Given the description of an element on the screen output the (x, y) to click on. 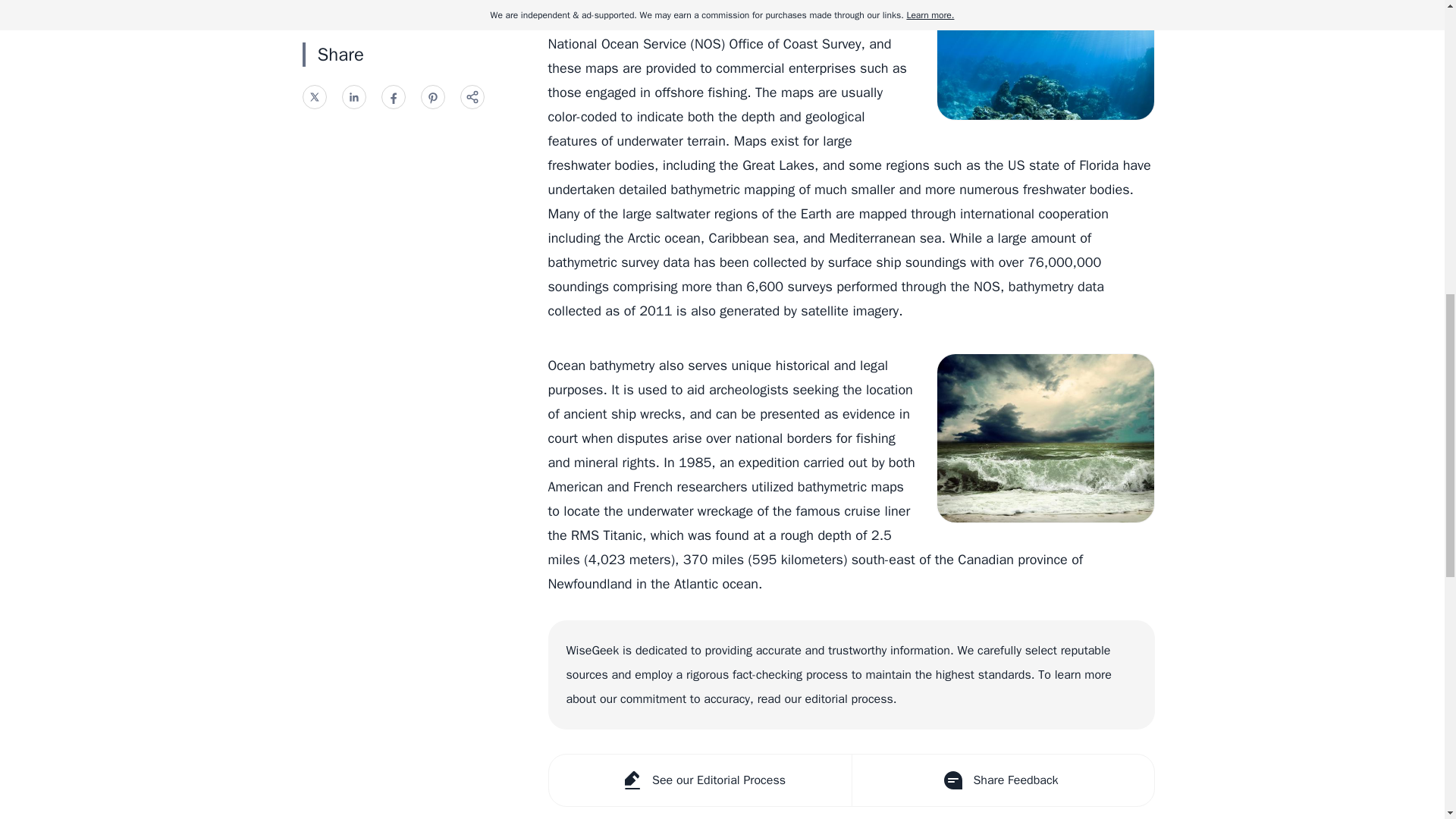
Share Feedback (1001, 779)
See our Editorial Process (699, 779)
